Given the description of an element on the screen output the (x, y) to click on. 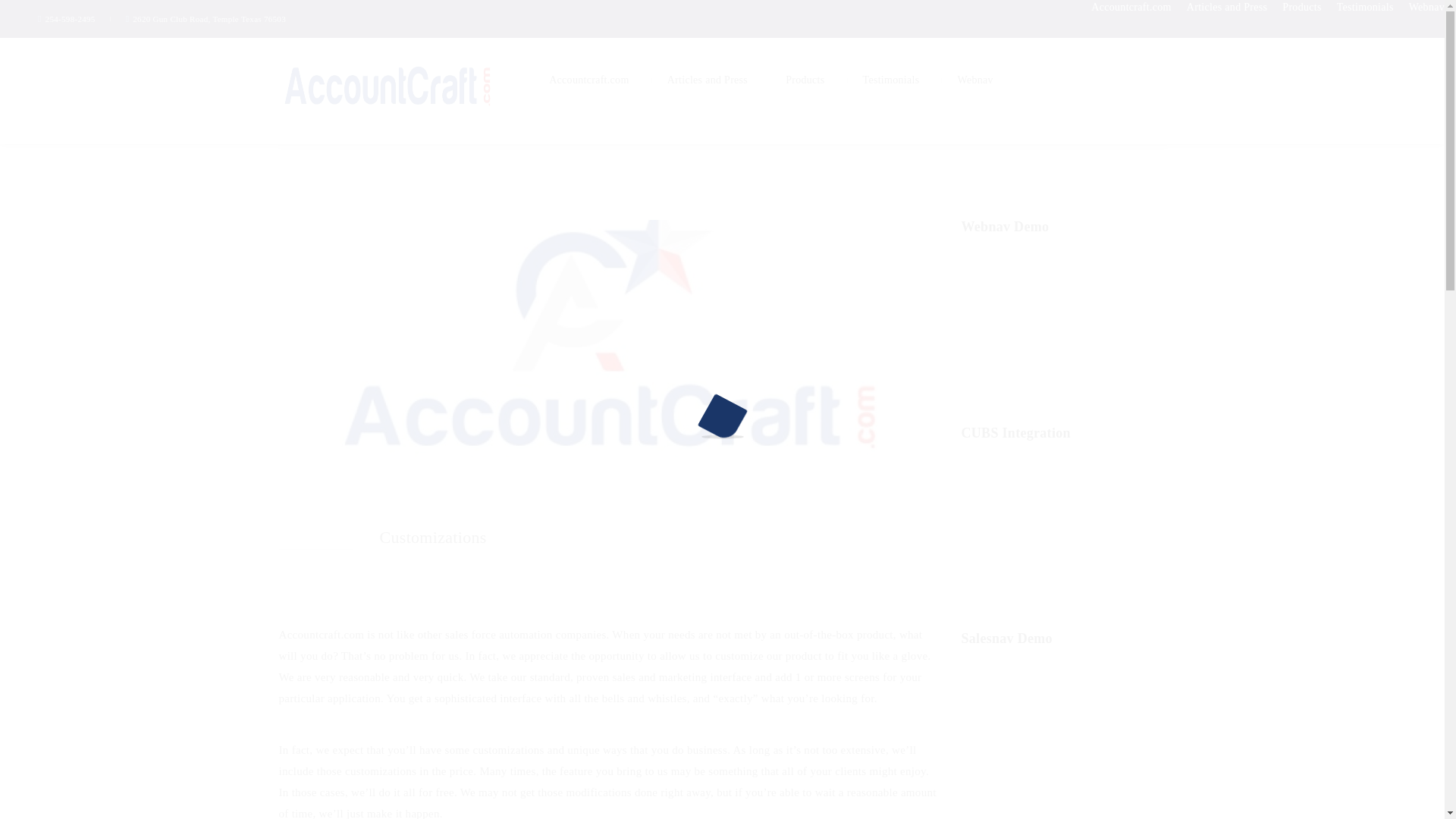
Accountcraft.com (387, 88)
Articles and Press (707, 79)
Accountcraft.com (1130, 7)
Articles and Press (1227, 7)
2620 Gun Club Road, Temple Texas 76503 (208, 18)
Testimonials (1364, 7)
Products (1301, 7)
Webnav (1426, 7)
Accountcraft.com (588, 79)
254-598-2495 (70, 18)
